Given the description of an element on the screen output the (x, y) to click on. 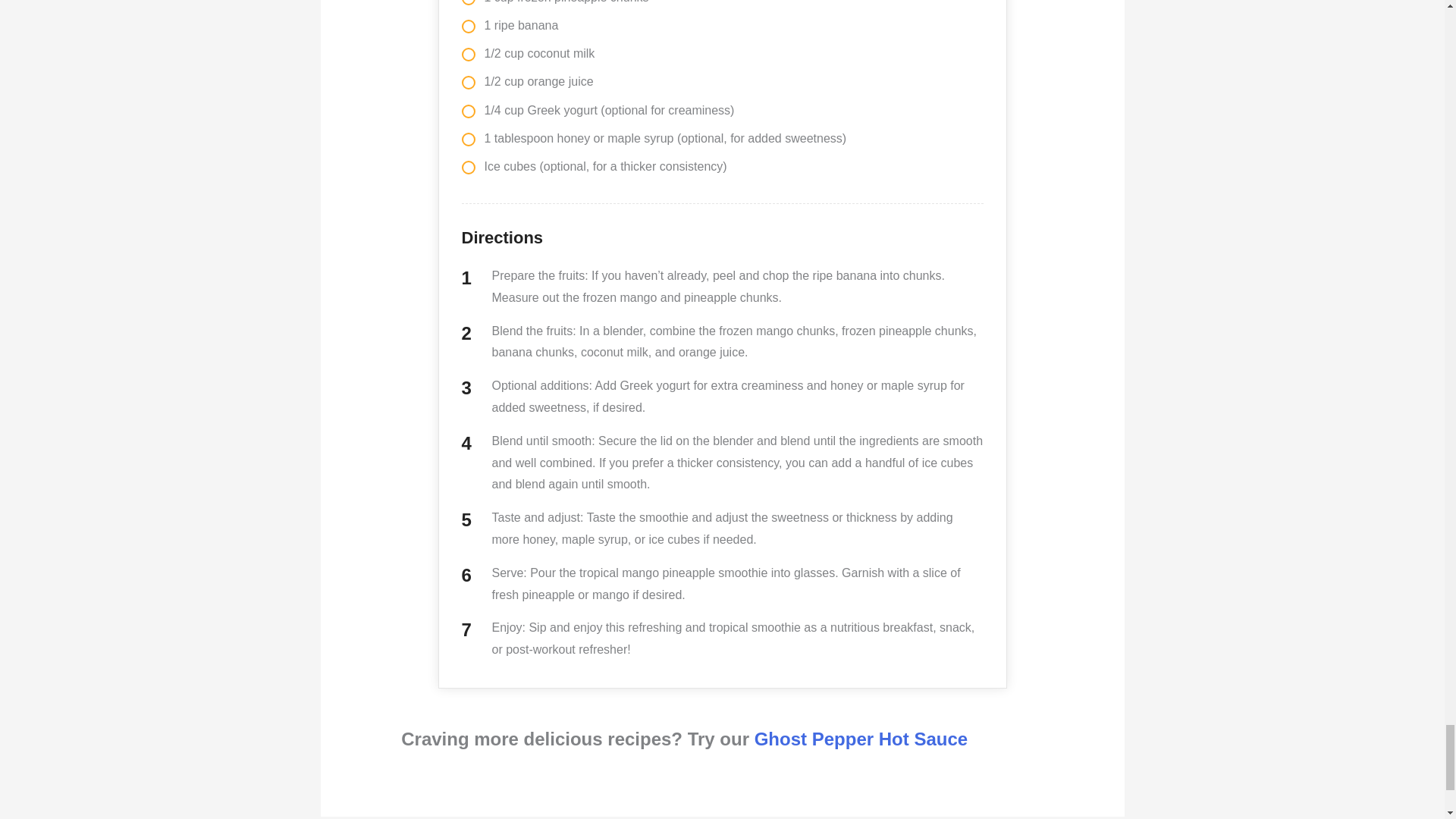
Ghost Pepper Hot Sauce (861, 738)
